Given the description of an element on the screen output the (x, y) to click on. 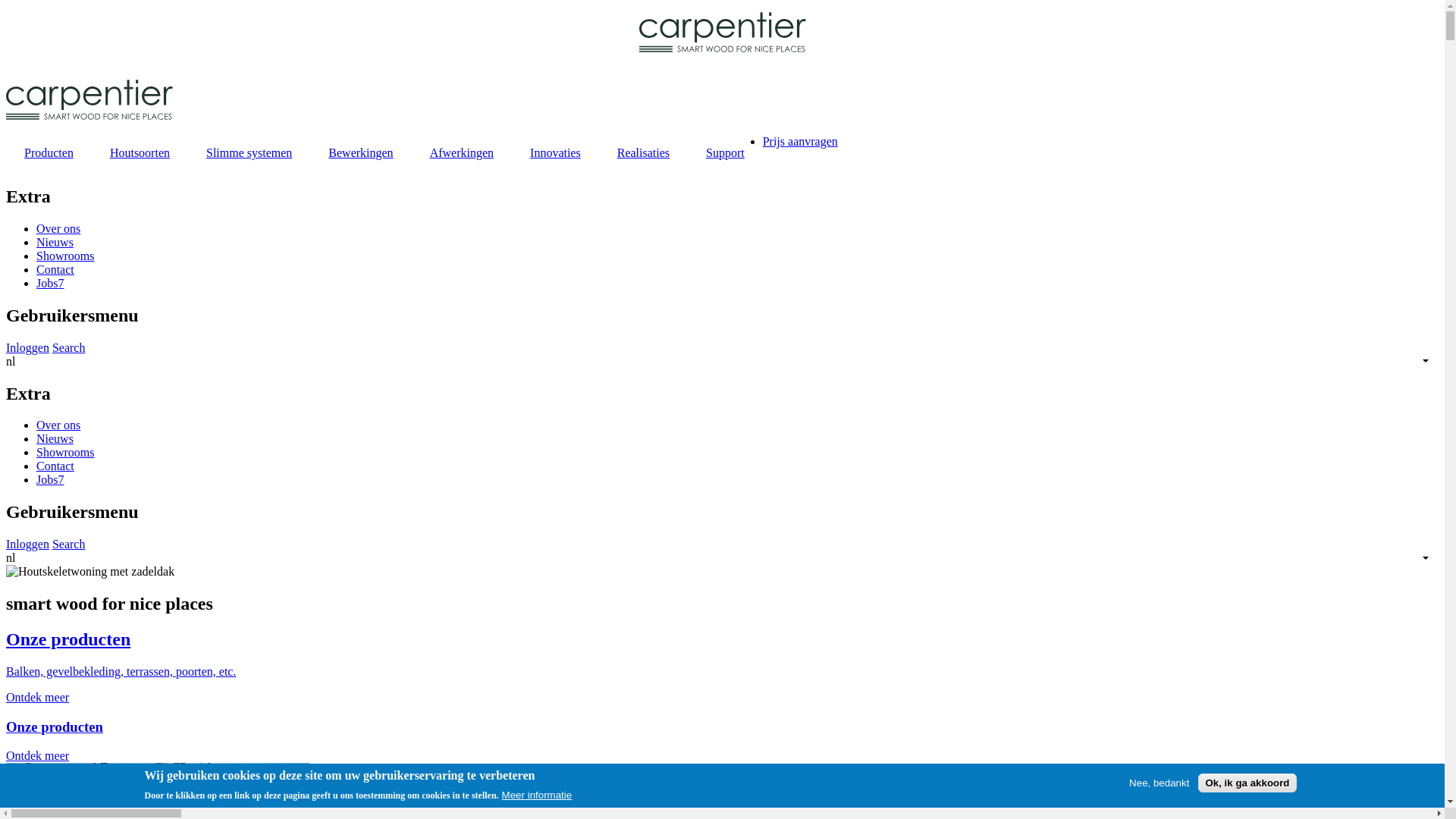
Houtsoorten Element type: text (139, 152)
Prijs aanvragen Element type: text (799, 140)
Slimme systemen Element type: text (249, 152)
Innovaties Element type: text (555, 152)
Nee, bedankt Element type: text (1159, 782)
Meer informatie Element type: text (537, 794)
Jobs7 Element type: text (49, 282)
Contact Element type: text (55, 269)
Search Element type: text (68, 543)
Afwerkingen Element type: text (461, 152)
Inloggen Element type: text (27, 347)
Showrooms Element type: text (65, 255)
Bewerkingen Element type: text (360, 152)
Nieuws Element type: text (54, 241)
Over ons Element type: text (58, 228)
Inloggen Element type: text (27, 543)
Support Element type: text (724, 152)
Jobs7 Element type: text (49, 479)
Search Element type: text (68, 347)
Ok, ik ga akkoord Element type: text (1246, 782)
Over ons Element type: text (58, 424)
Producten Element type: text (48, 152)
Showrooms Element type: text (65, 451)
Realisaties Element type: text (643, 152)
Nieuws Element type: text (54, 438)
Contact Element type: text (55, 465)
Overslaan en naar de inhoud gaan Element type: text (6, 12)
